Given the description of an element on the screen output the (x, y) to click on. 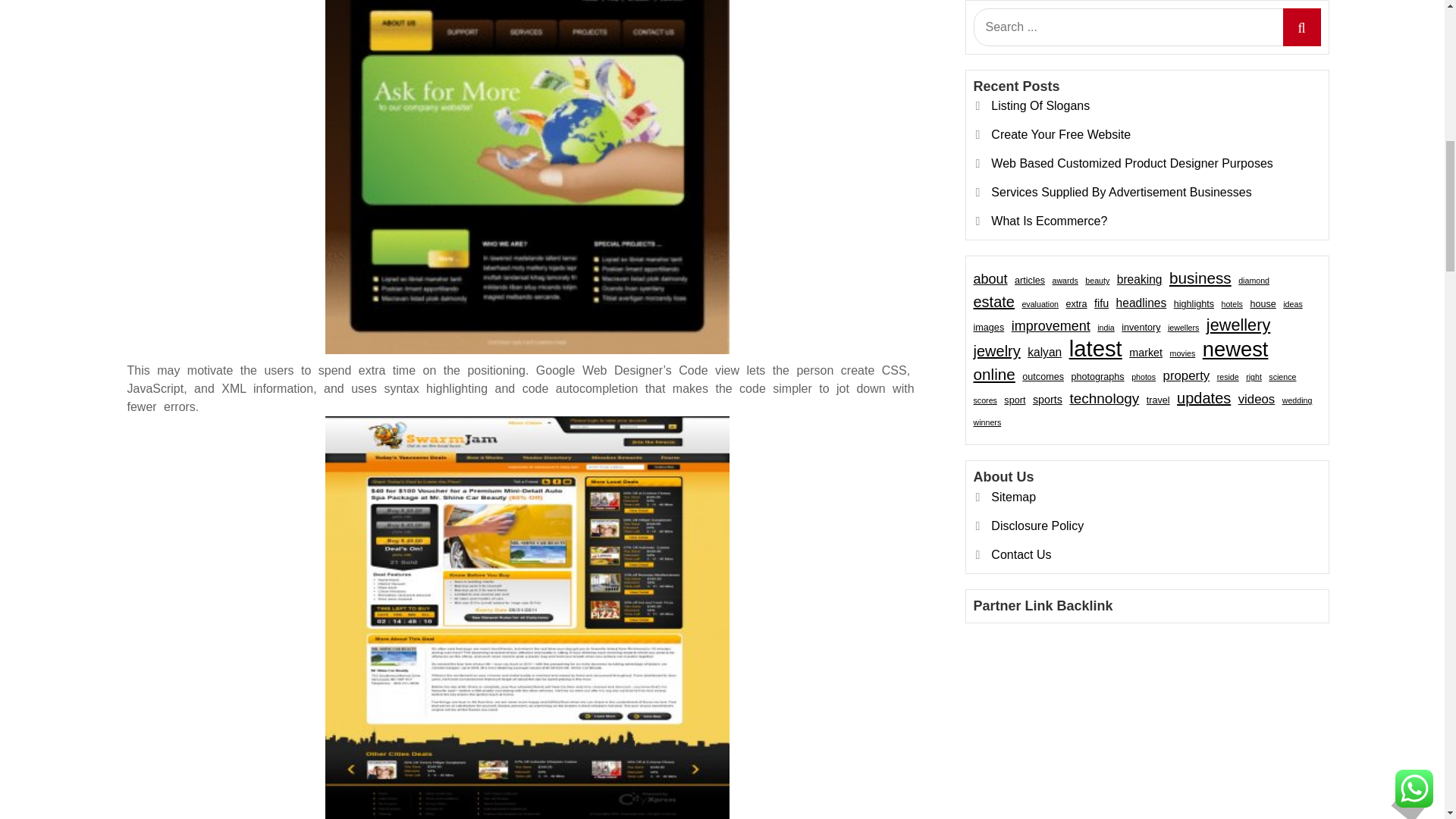
highlights (1193, 102)
diamond (1254, 79)
ideas (1291, 102)
business (1200, 76)
estate (994, 100)
breaking (1138, 78)
about (990, 77)
evaluation (1040, 102)
What Is Ecommerce? (1048, 19)
improvement (1050, 124)
hotels (1231, 102)
headlines (1141, 102)
house (1262, 102)
articles (1029, 79)
awards (1065, 79)
